Given the description of an element on the screen output the (x, y) to click on. 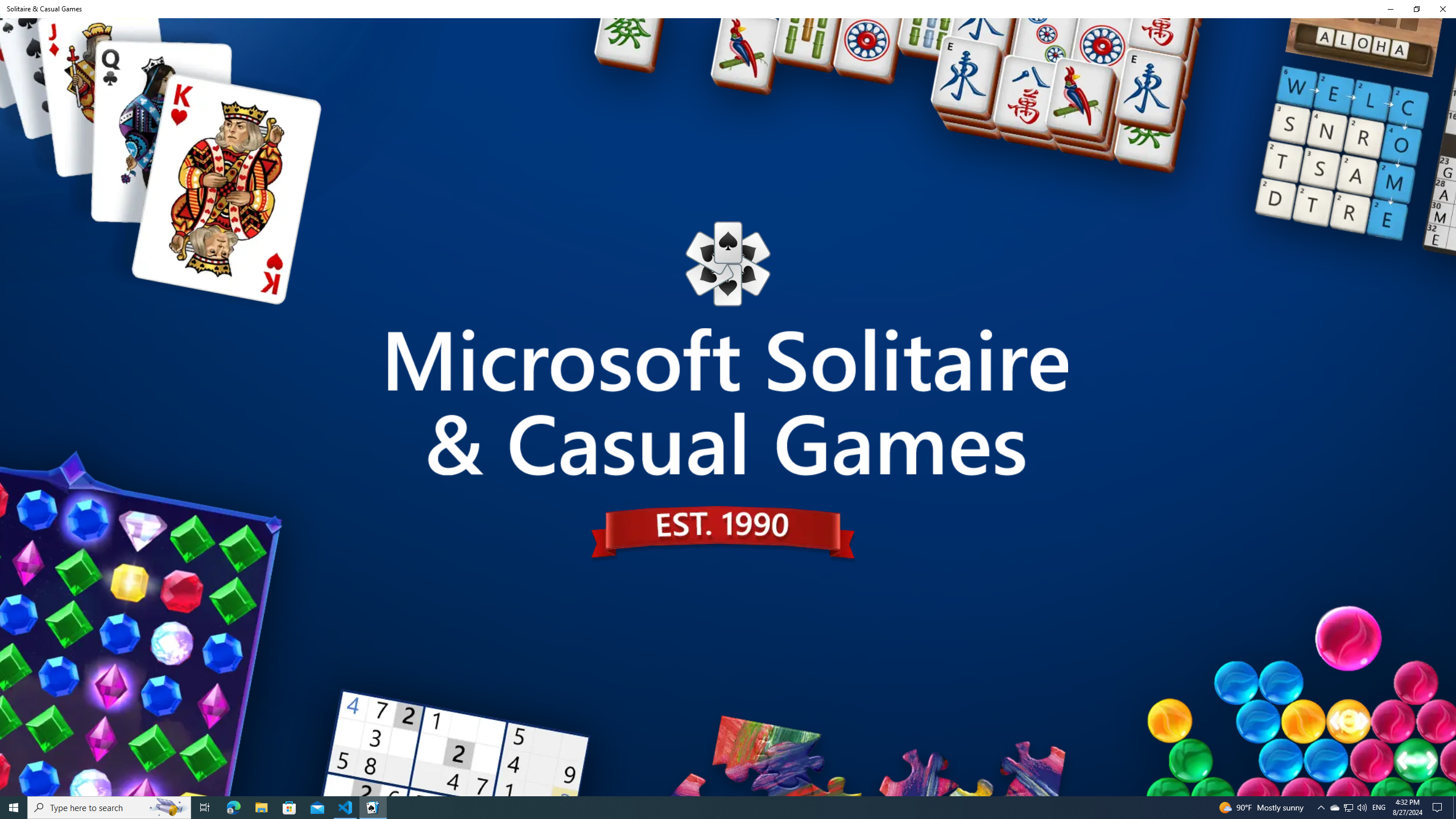
Notification Chevron (1320, 807)
Action Center, No new notifications (1347, 807)
Minimize Solitaire & Casual Games (1333, 807)
Solitaire & Casual Games - 1 running window (1439, 807)
Visual Studio Code - 1 running window (1390, 9)
Task View (373, 807)
Start (345, 807)
User Promoted Notification Area (204, 807)
